Given the description of an element on the screen output the (x, y) to click on. 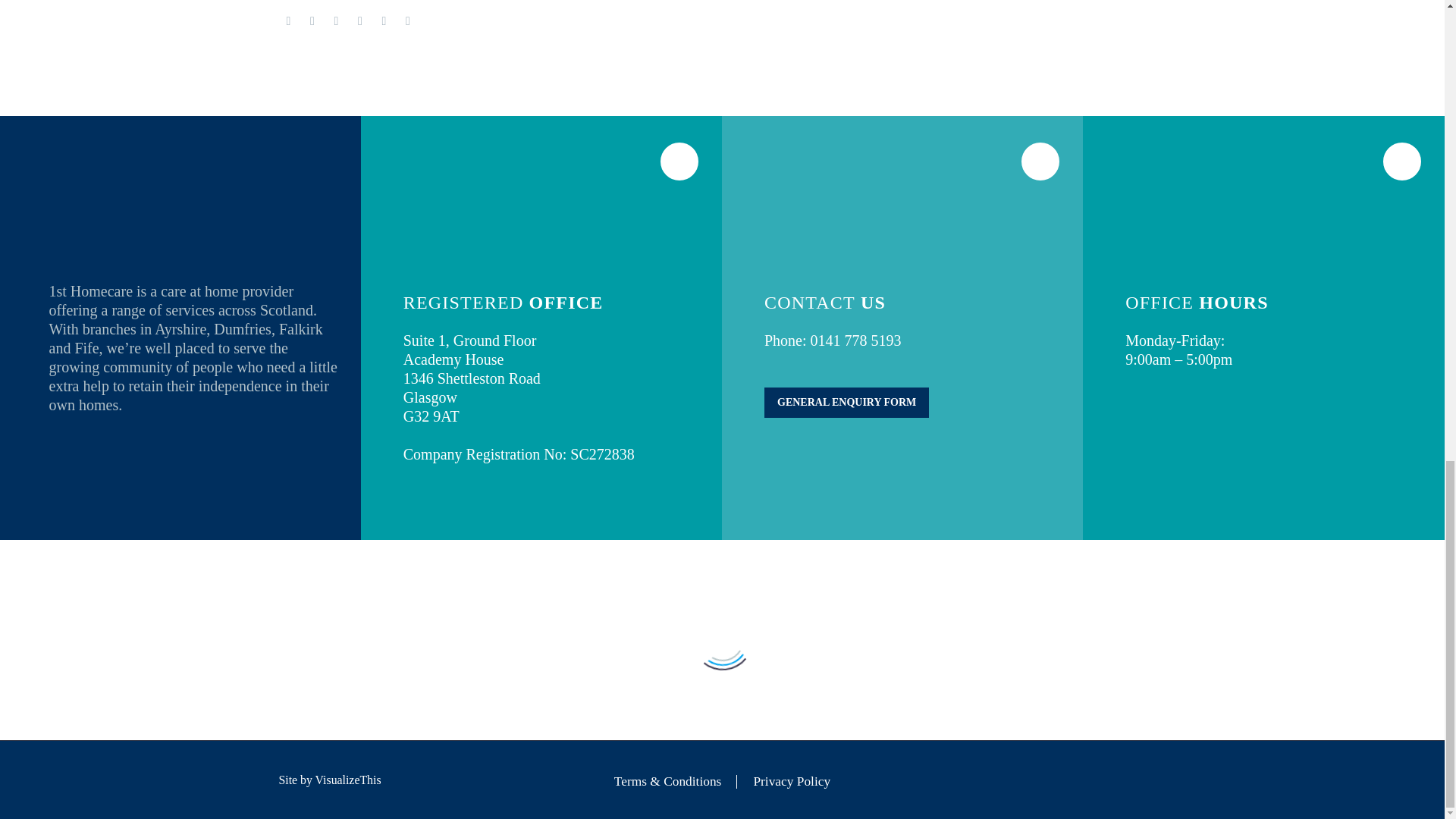
Tumblr (359, 21)
Pinterest (336, 21)
LinkedIn (383, 21)
Reddit (407, 21)
Facebook (288, 21)
Twitter (311, 21)
Contact Us (846, 402)
